Given the description of an element on the screen output the (x, y) to click on. 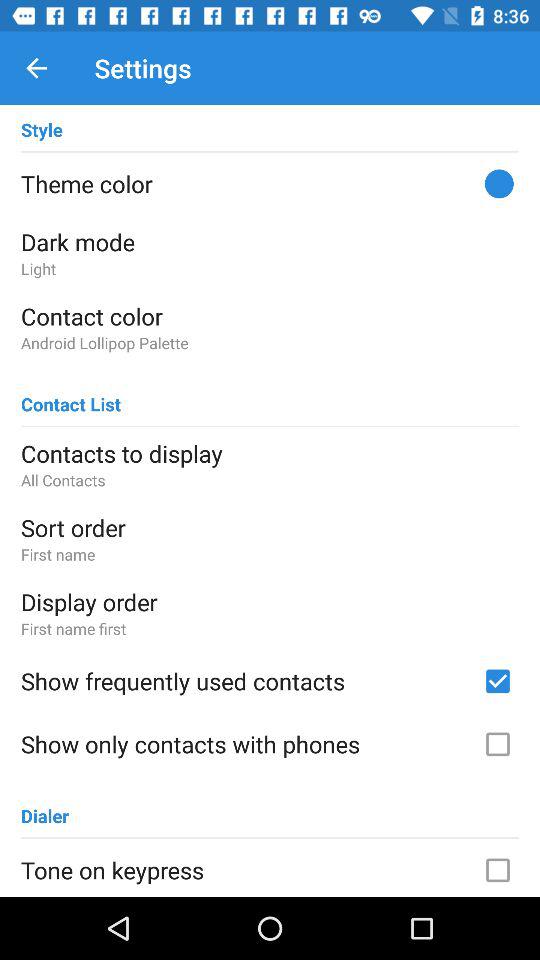
turn off the display order (270, 602)
